Given the description of an element on the screen output the (x, y) to click on. 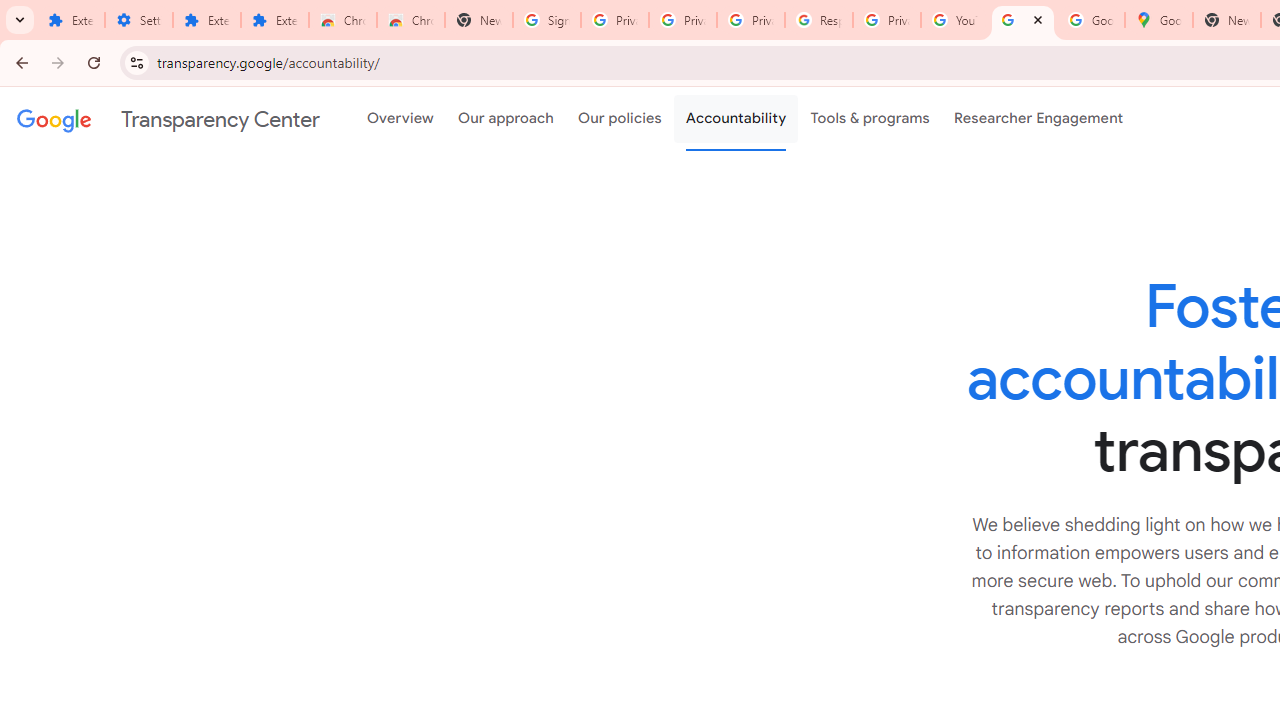
Our policies (619, 119)
Settings (138, 20)
Tools & programs (869, 119)
Google Maps (1158, 20)
New Tab (479, 20)
Accountability (735, 119)
Policy Accountability and Transparency - Transparency Center (1023, 20)
